Given the description of an element on the screen output the (x, y) to click on. 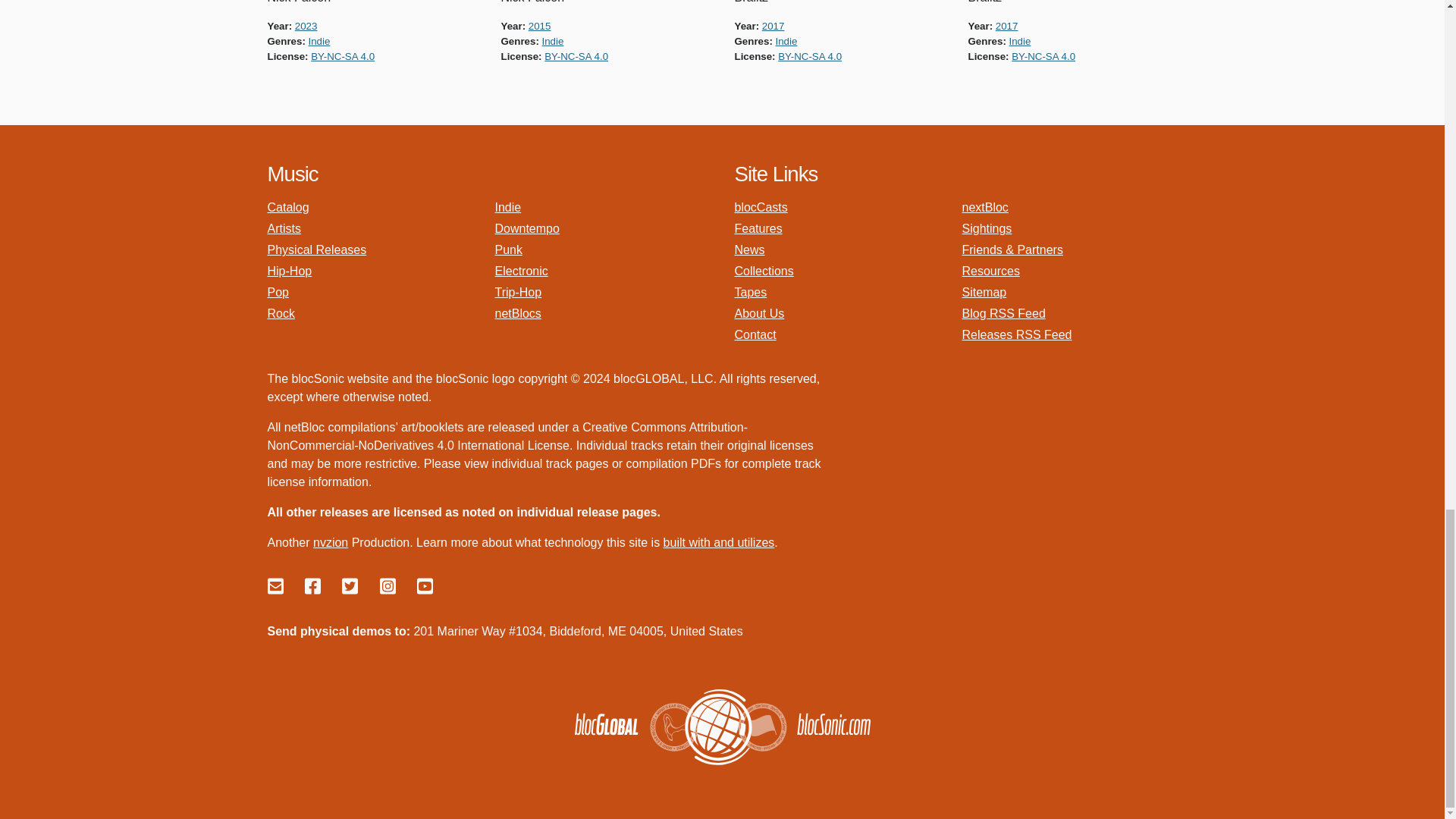
2023 (306, 25)
BY-NC-SA 4.0 (342, 56)
Indie (319, 41)
